Given the description of an element on the screen output the (x, y) to click on. 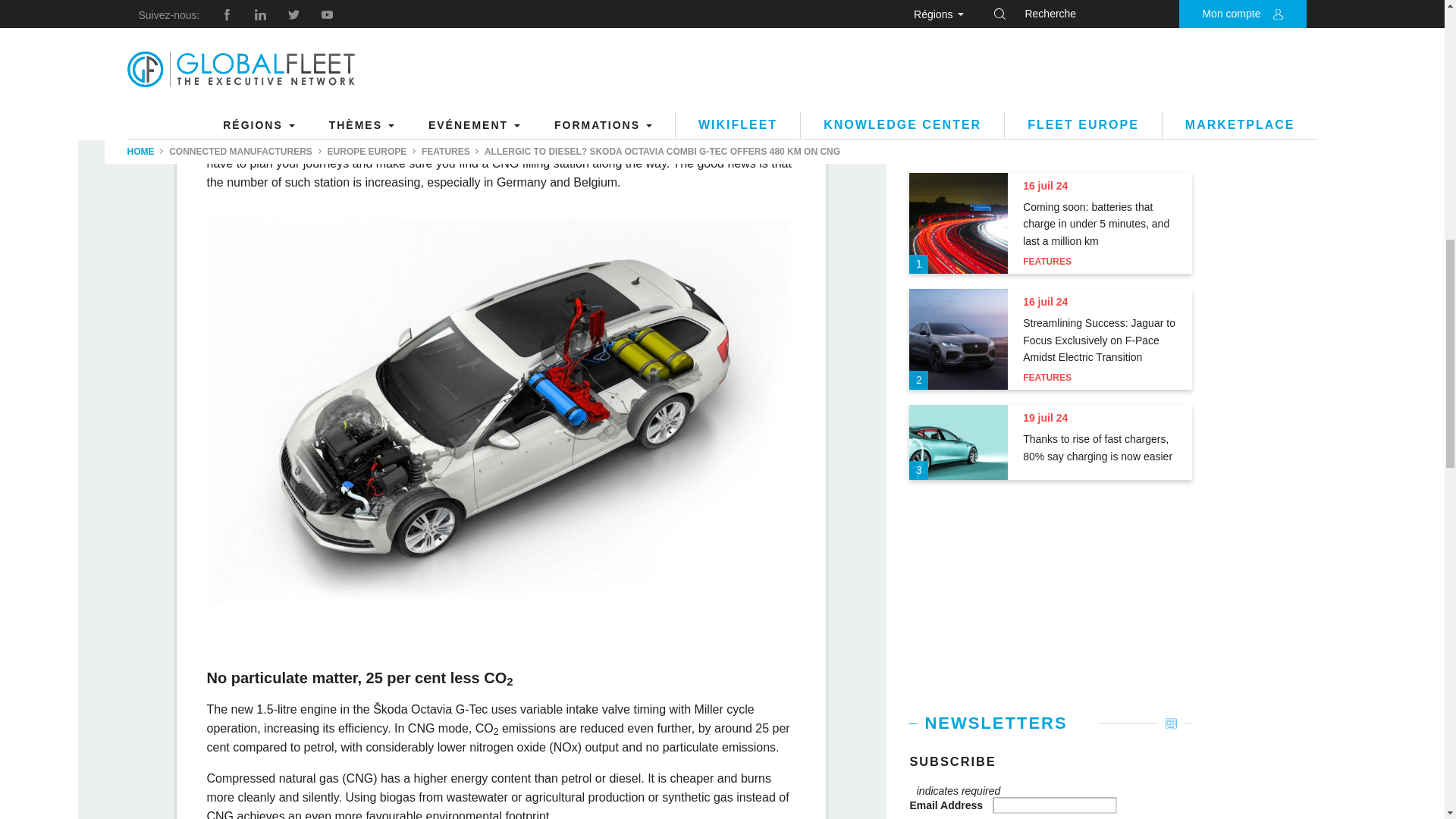
3rd party ad content (1050, 55)
3rd party ad content (1050, 597)
